Given the description of an element on the screen output the (x, y) to click on. 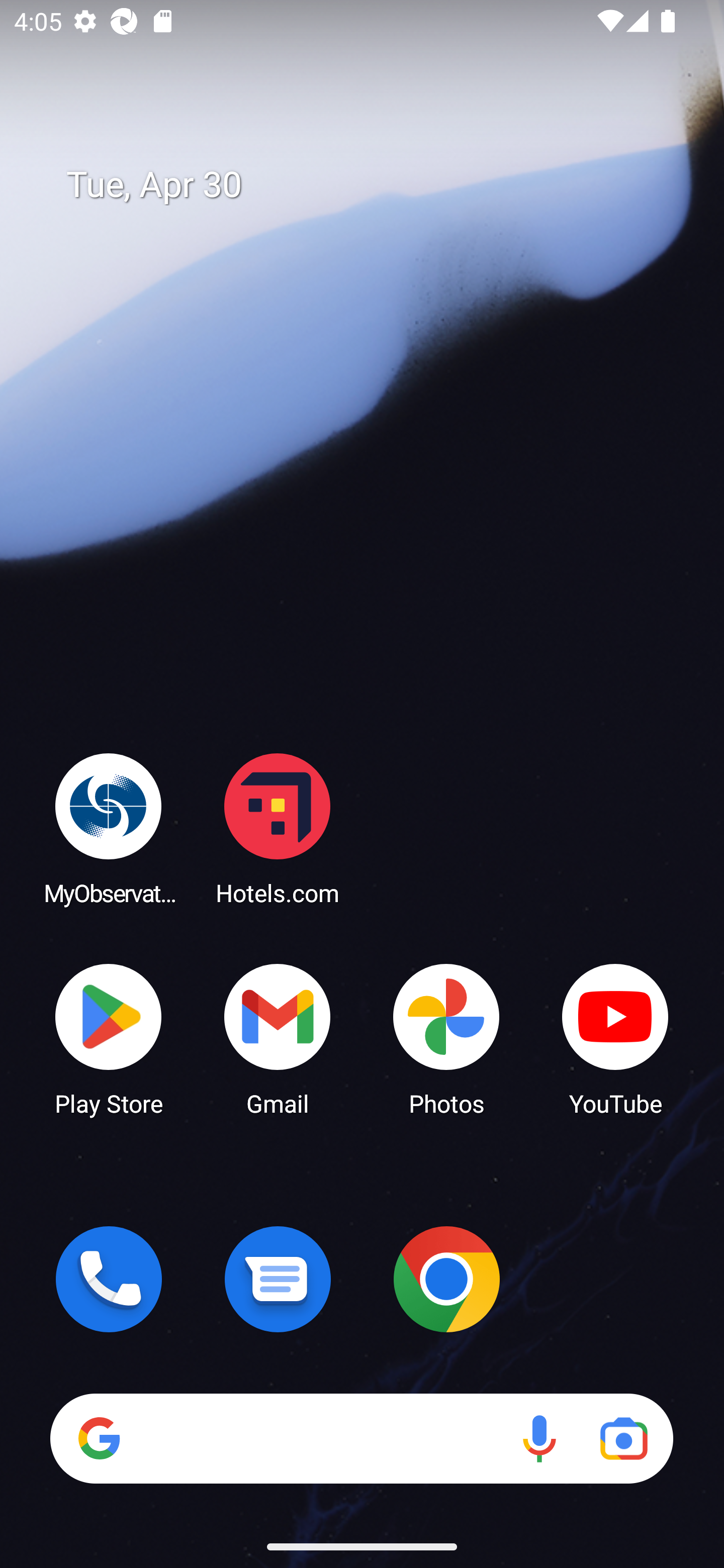
Tue, Apr 30 (375, 184)
MyObservatory (108, 828)
Hotels.com (277, 828)
Play Store (108, 1038)
Gmail (277, 1038)
Photos (445, 1038)
YouTube (615, 1038)
Phone (108, 1279)
Messages (277, 1279)
Chrome (446, 1279)
Voice search (539, 1438)
Google Lens (623, 1438)
